Given the description of an element on the screen output the (x, y) to click on. 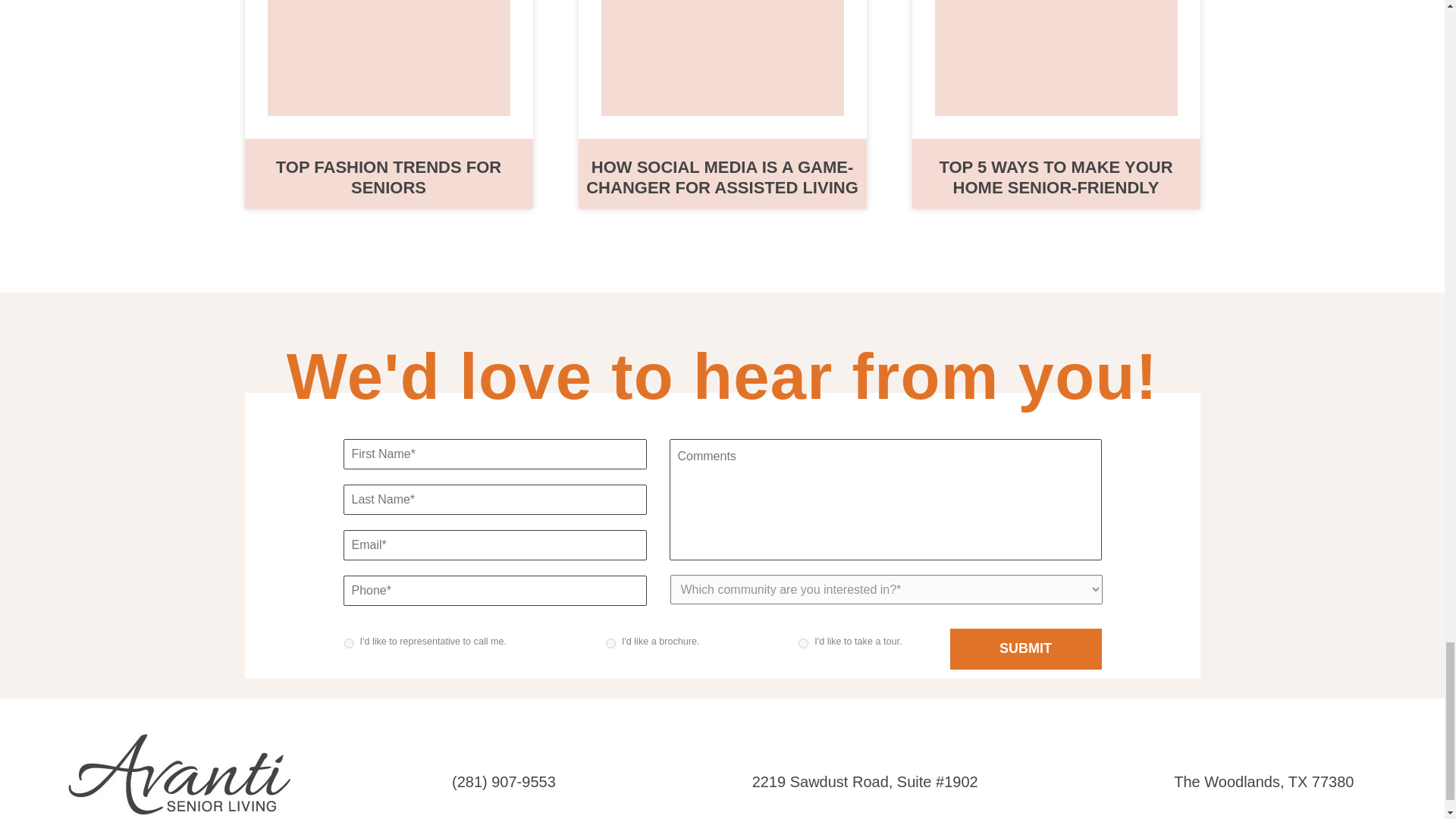
I'd like to take a tour. (802, 643)
I'd like to representative to call me. (348, 643)
I'd like a brochure. (610, 643)
Submit (1024, 648)
